Given the description of an element on the screen output the (x, y) to click on. 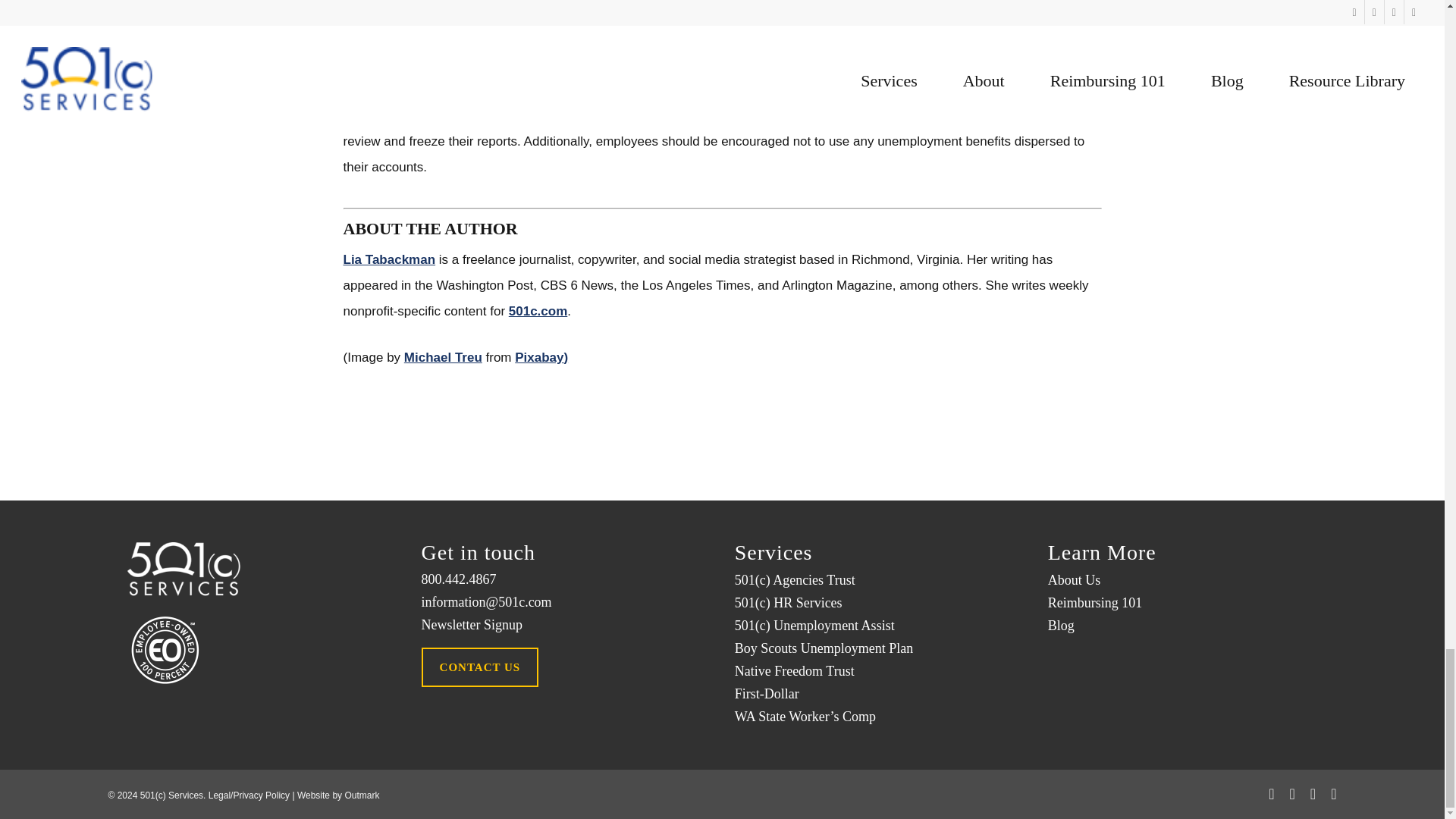
Lia Tabackman (388, 259)
Michael Treu (442, 357)
Pixabay (539, 357)
file an identity theft report to the federal government (716, 115)
CONTACT US (480, 667)
800.442.4867 (566, 579)
Newsletter Signup (566, 624)
501c.com (537, 310)
